Given the description of an element on the screen output the (x, y) to click on. 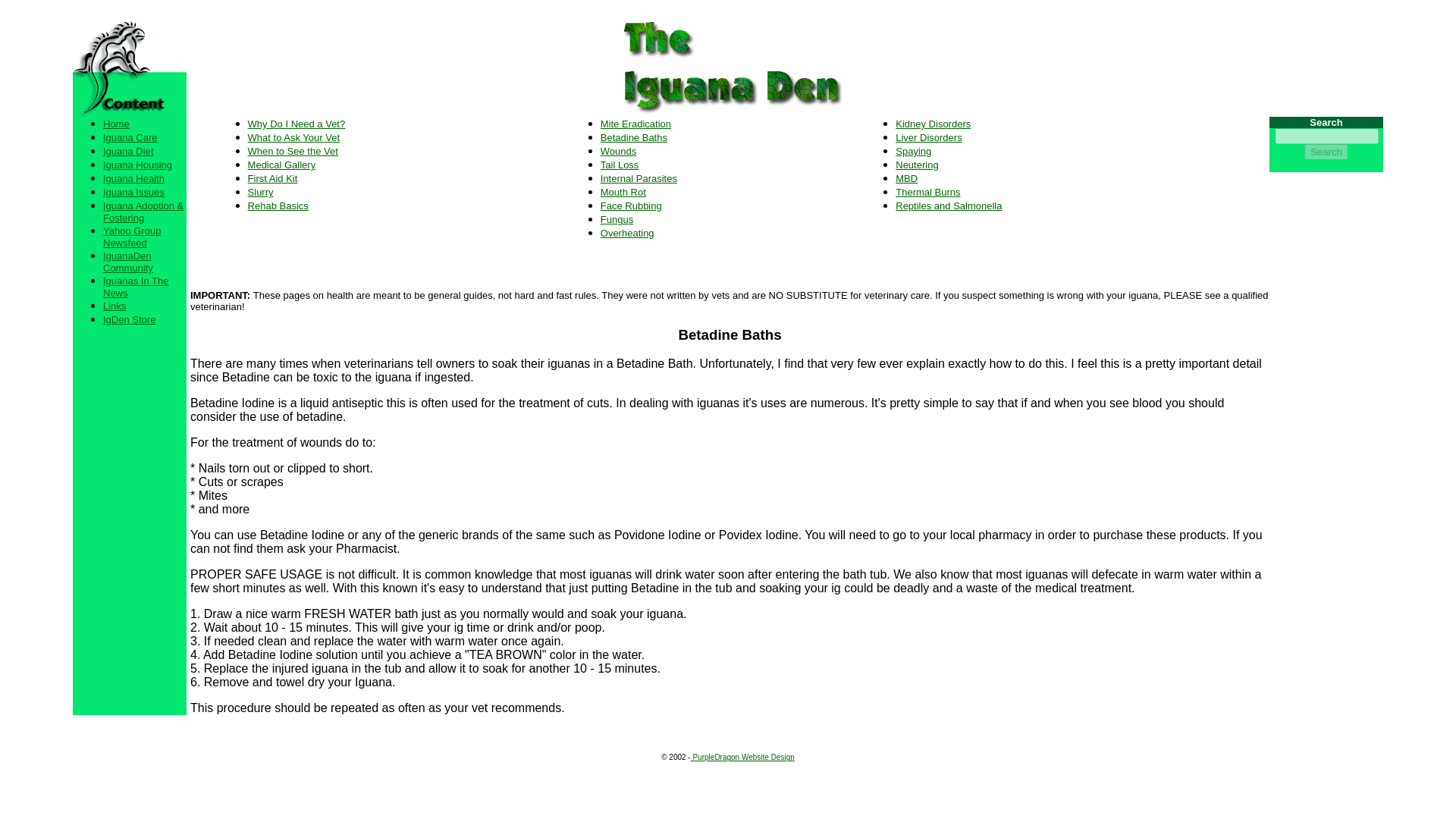
MBD (906, 178)
PurpleDragon Website Design (742, 756)
IgDen Store (129, 318)
Face Rubbing (630, 205)
Kidney Disorders (933, 123)
Why Do I Need a Vet? (296, 123)
Wounds (617, 151)
Medical Gallery (281, 164)
Liver Disorders (927, 137)
Iguana Diet (128, 151)
Mouth Rot (622, 192)
Betadine Baths (632, 137)
Iguana Health (133, 177)
Iguana Care (130, 137)
Home (116, 123)
